Given the description of an element on the screen output the (x, y) to click on. 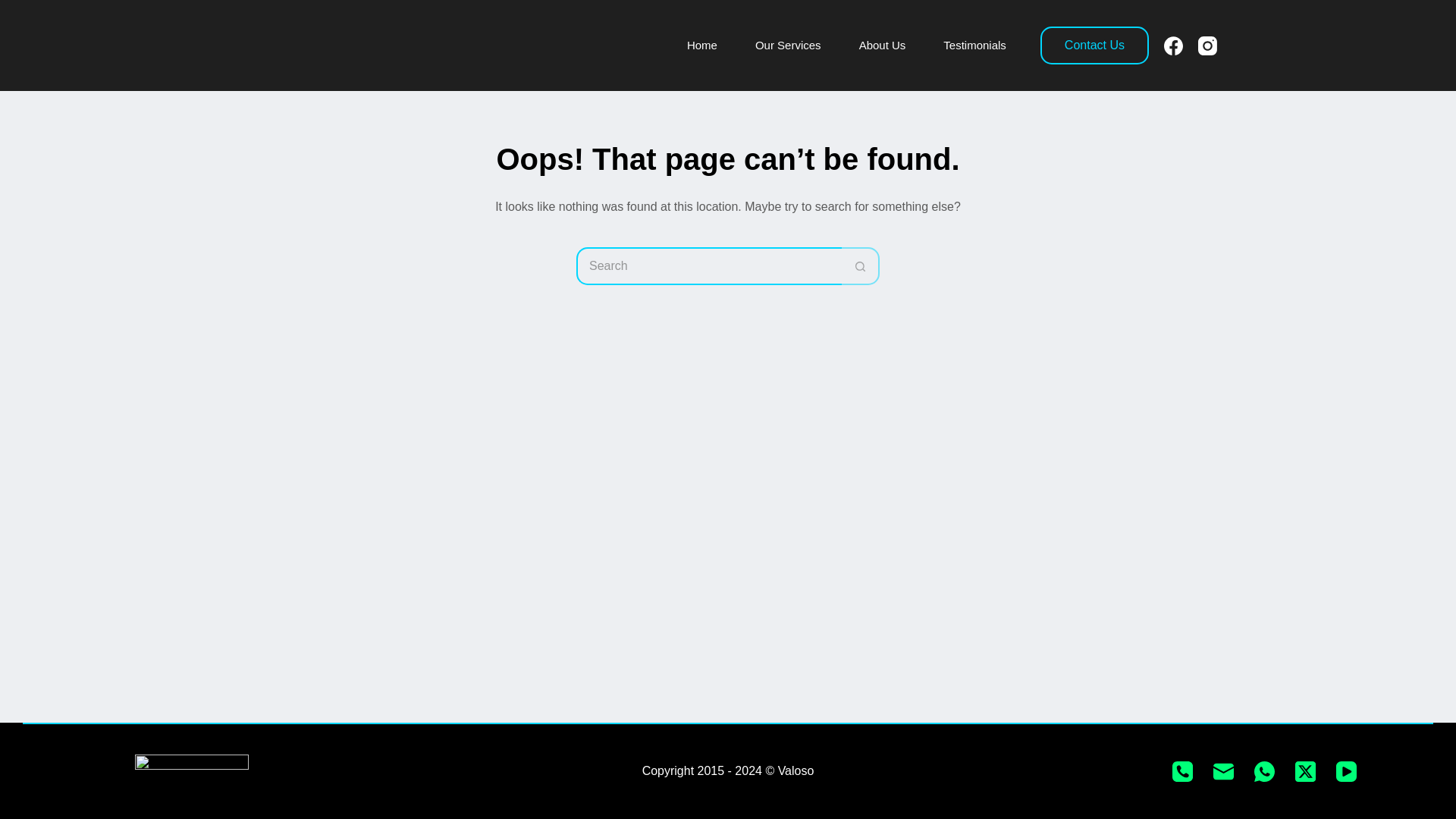
Contact Us (1094, 45)
Home (702, 45)
Search for... (708, 266)
About Us (882, 45)
Skip to content (15, 7)
Testimonials (974, 45)
Our Services (788, 45)
